Given the description of an element on the screen output the (x, y) to click on. 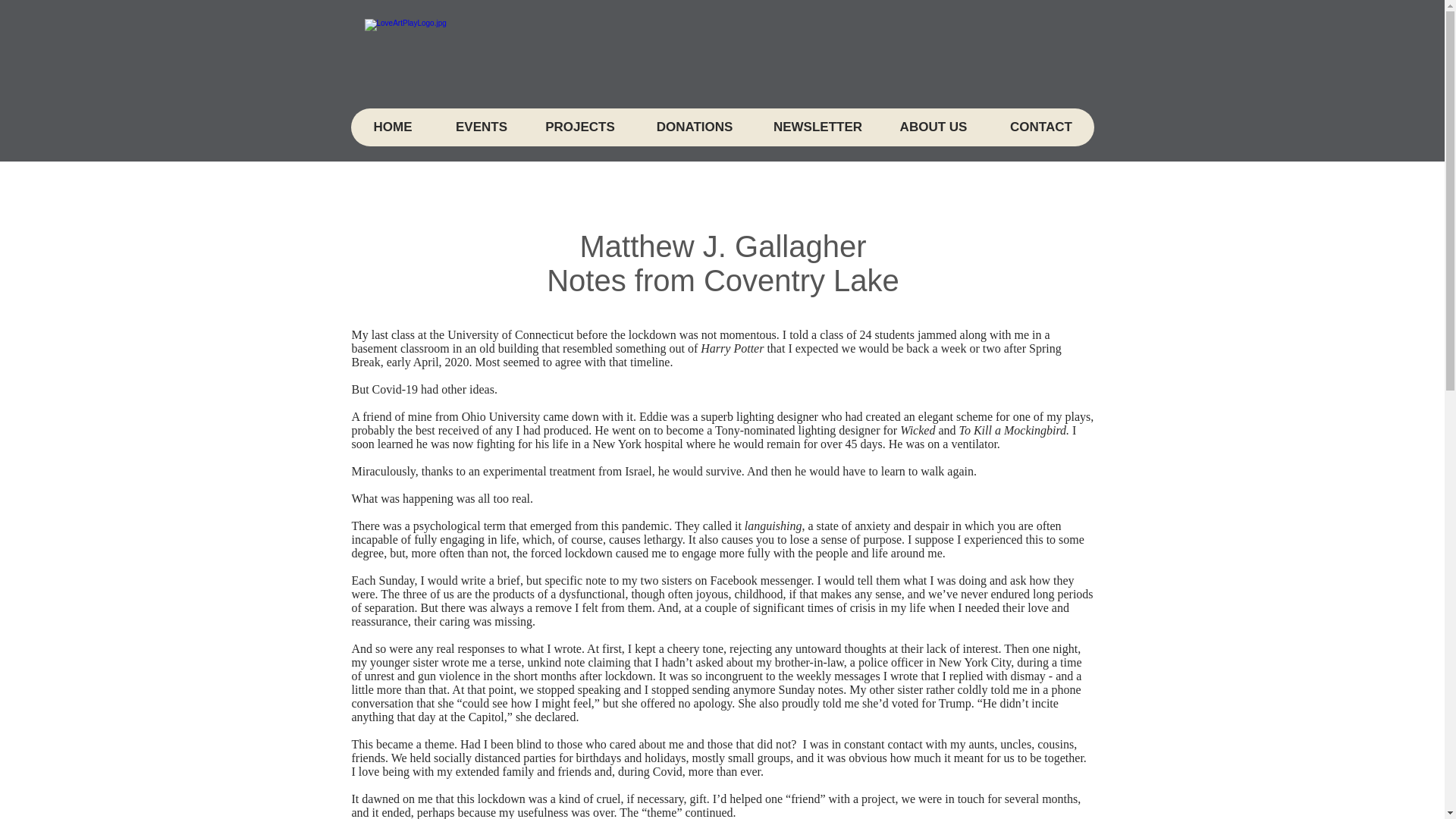
NEWSLETTER (818, 127)
CONTACT (1040, 127)
ABOUT US (932, 127)
EVENTS (481, 127)
PROJECTS (579, 127)
HOME (391, 127)
DONATIONS (694, 127)
